Given the description of an element on the screen output the (x, y) to click on. 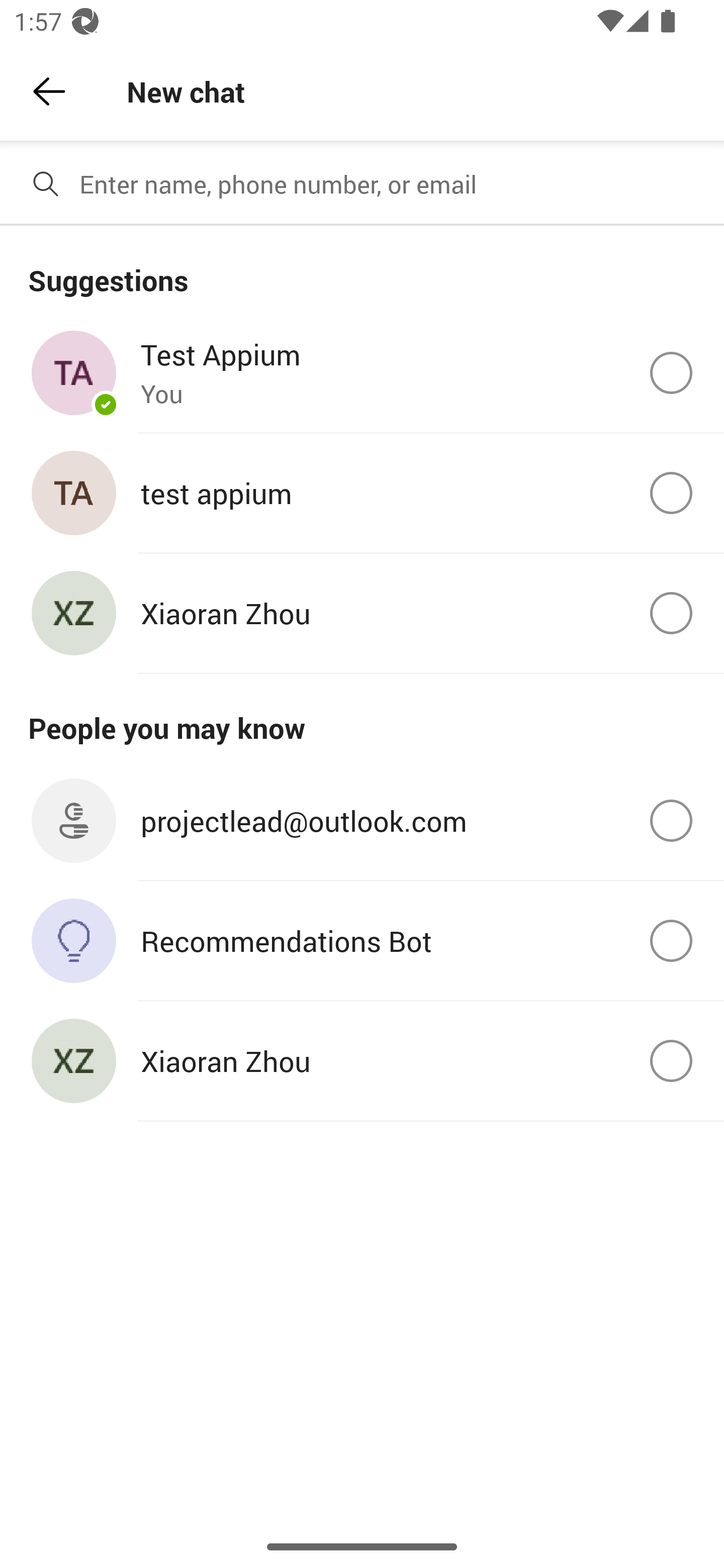
Back (49, 91)
Enter name, phone number, or email (393, 184)
Suggestions section header Suggestions (362, 269)
